Given the description of an element on the screen output the (x, y) to click on. 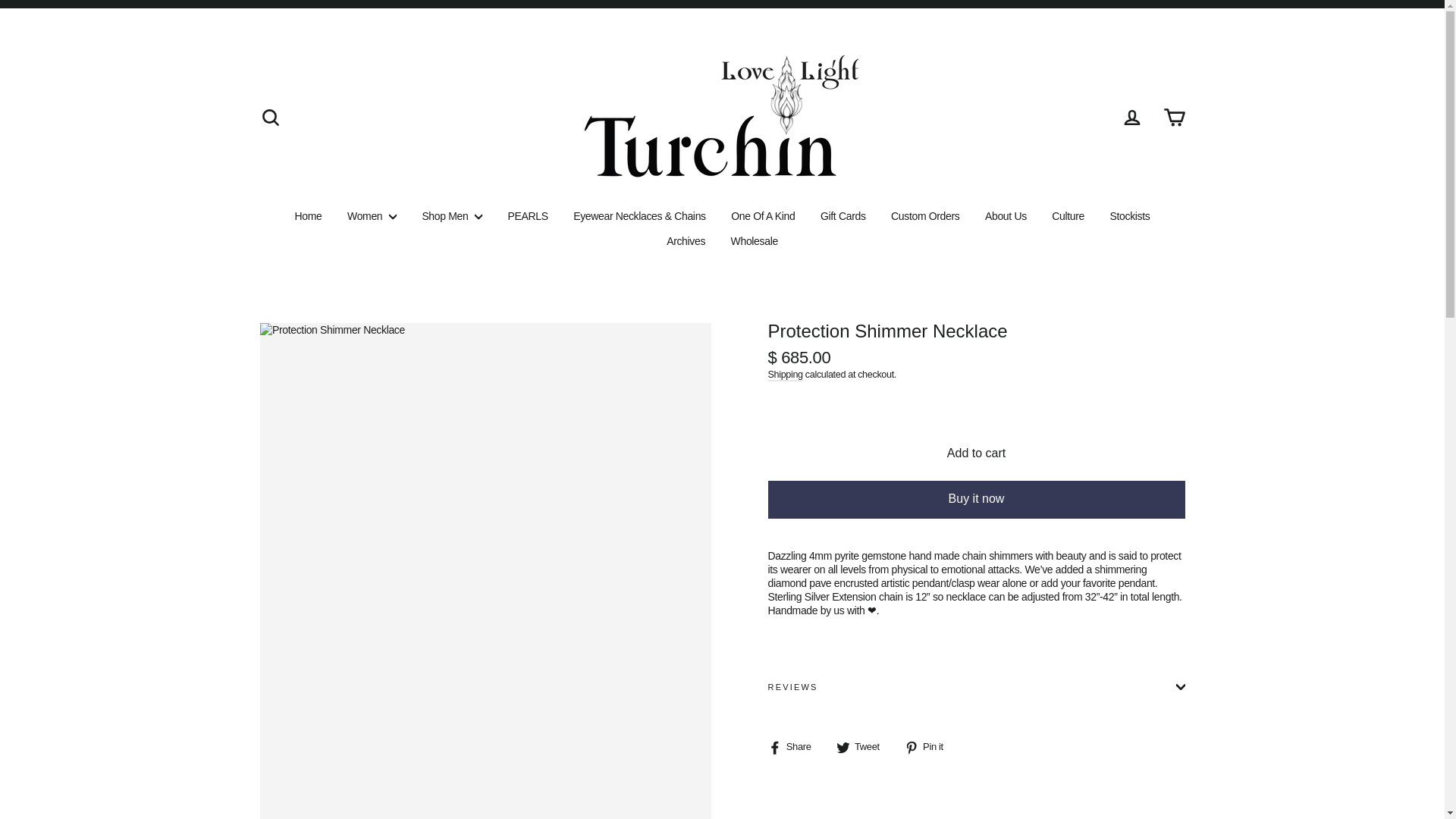
Log in (1131, 116)
Share on Facebook (794, 747)
Tweet on Twitter (863, 747)
Search (269, 116)
Pin on Pinterest (929, 747)
